Given the description of an element on the screen output the (x, y) to click on. 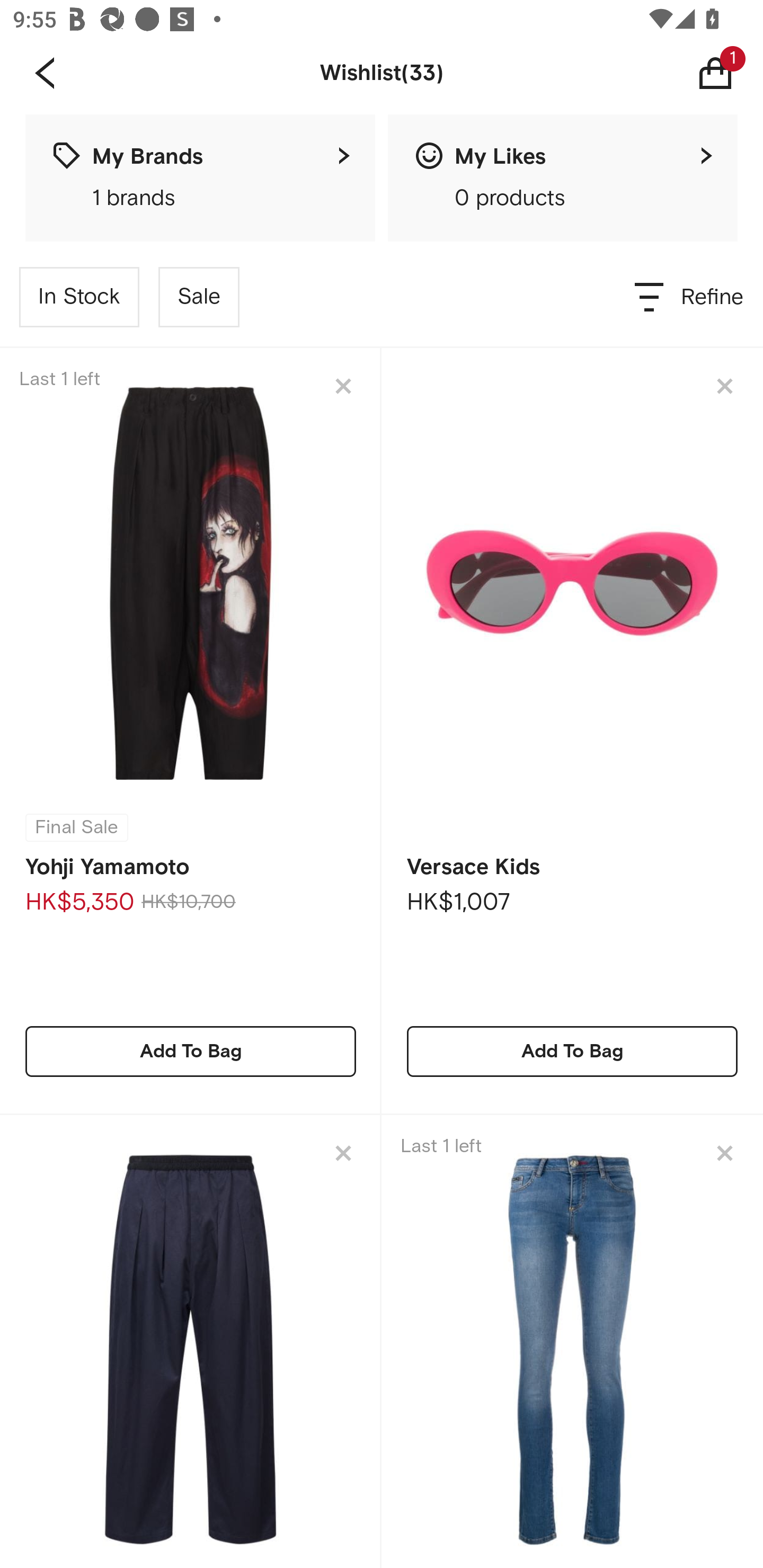
1 (729, 72)
My Brands 1 brands (200, 177)
My Likes 0 products (562, 177)
In Stock (79, 296)
Sale (198, 296)
Refine (690, 296)
Versace Kids HK$1,007 Add To Bag (572, 731)
Add To Bag (190, 1050)
Add To Bag (571, 1050)
Last 1 left (572, 1341)
